Given the description of an element on the screen output the (x, y) to click on. 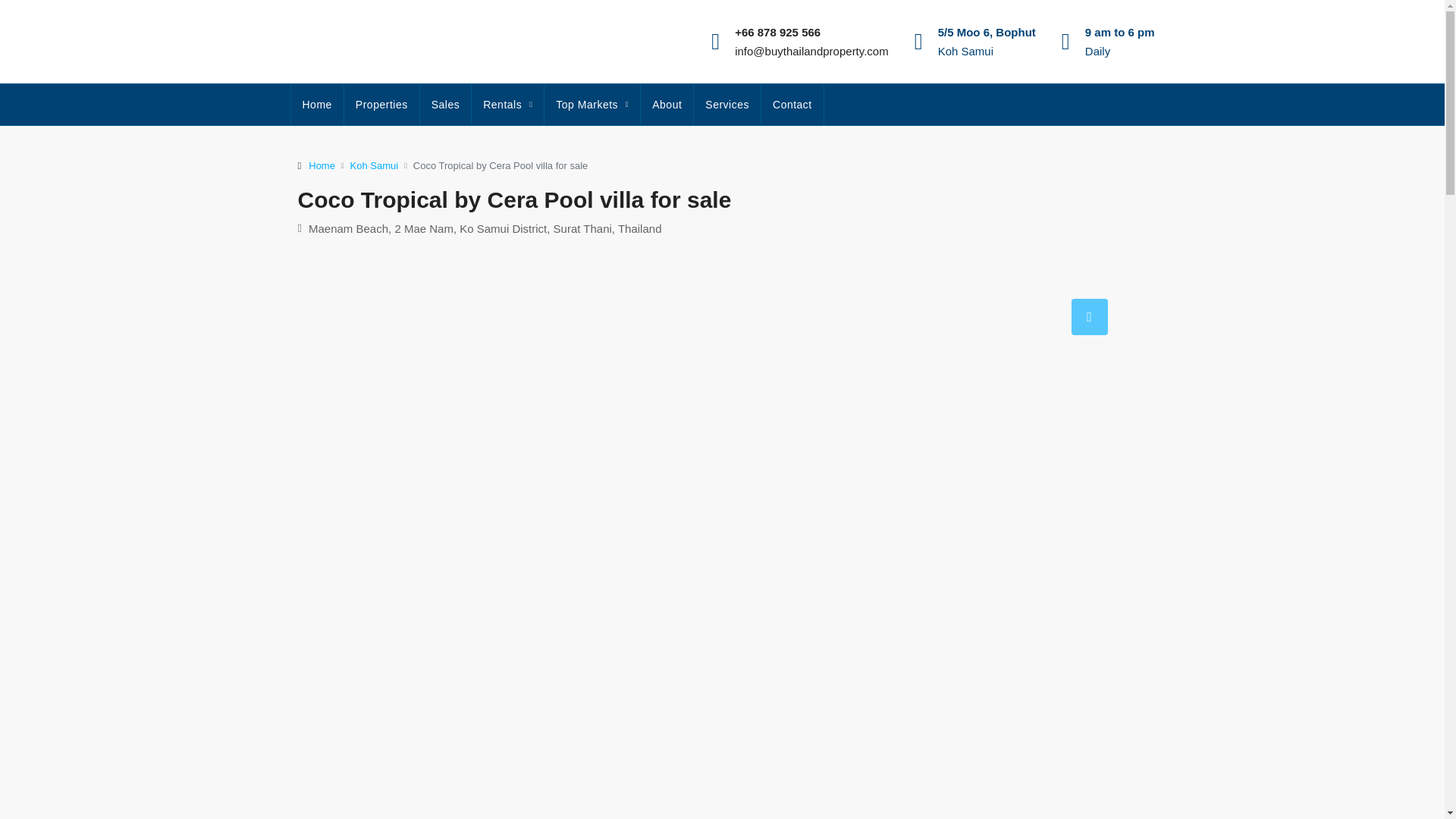
Home (317, 104)
Sales (445, 104)
Houses For Sale and Rental  Thailand (317, 104)
Properties (381, 104)
Contact (792, 104)
Rentals (507, 104)
Houses and Villas for sale (445, 104)
Services (727, 104)
Islands of Siam Property Group (666, 104)
Top Markets (592, 104)
About (666, 104)
Koh Samui (374, 165)
Properties for rent in Thailand (507, 104)
Home (321, 165)
